Given the description of an element on the screen output the (x, y) to click on. 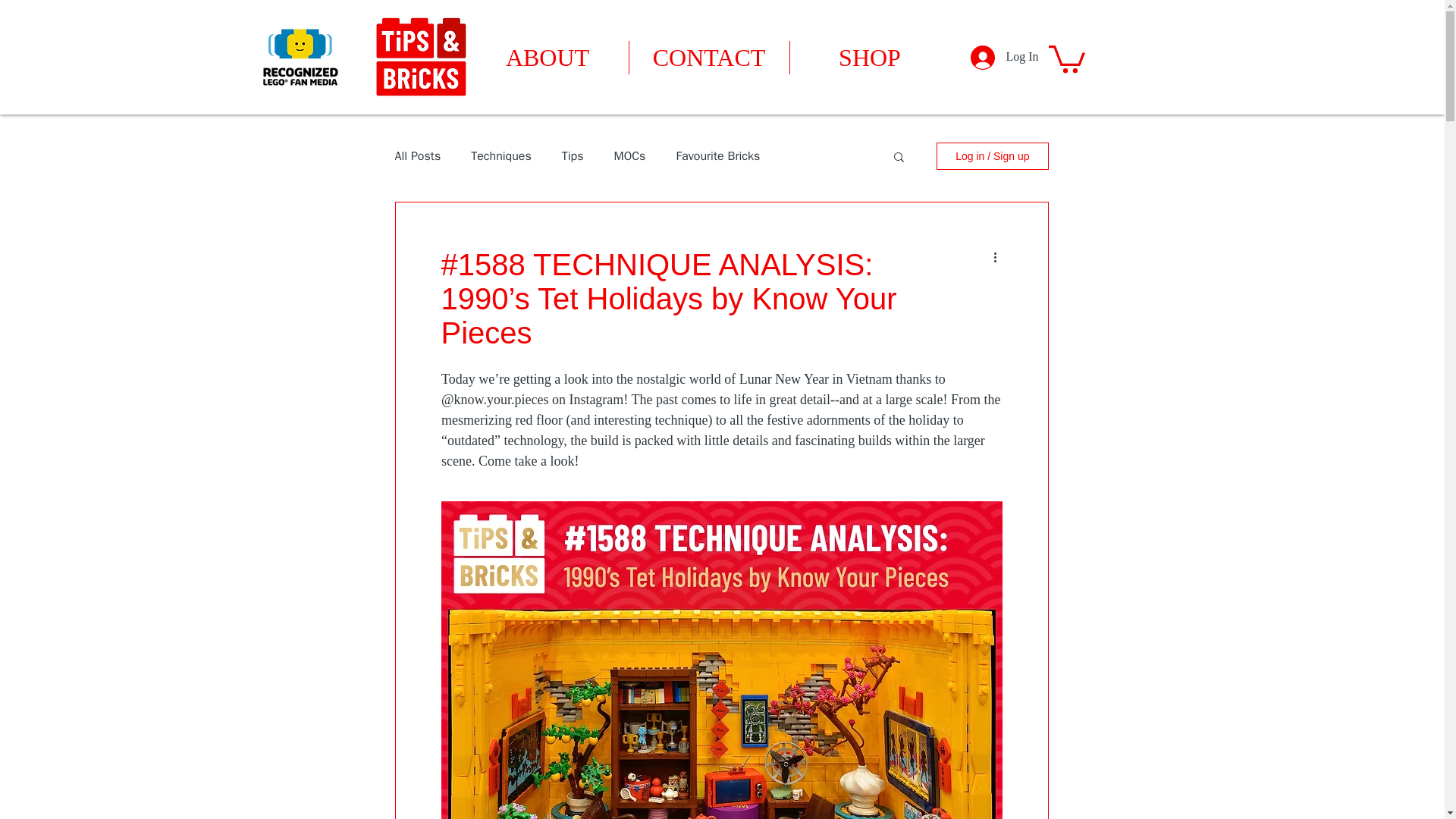
CONTACT (708, 57)
Favourite Bricks (717, 156)
ABOUT (547, 57)
MOCs (630, 156)
All Posts (417, 156)
SHOP (870, 57)
Tips (572, 156)
Log In (1003, 57)
Techniques (500, 156)
